Given the description of an element on the screen output the (x, y) to click on. 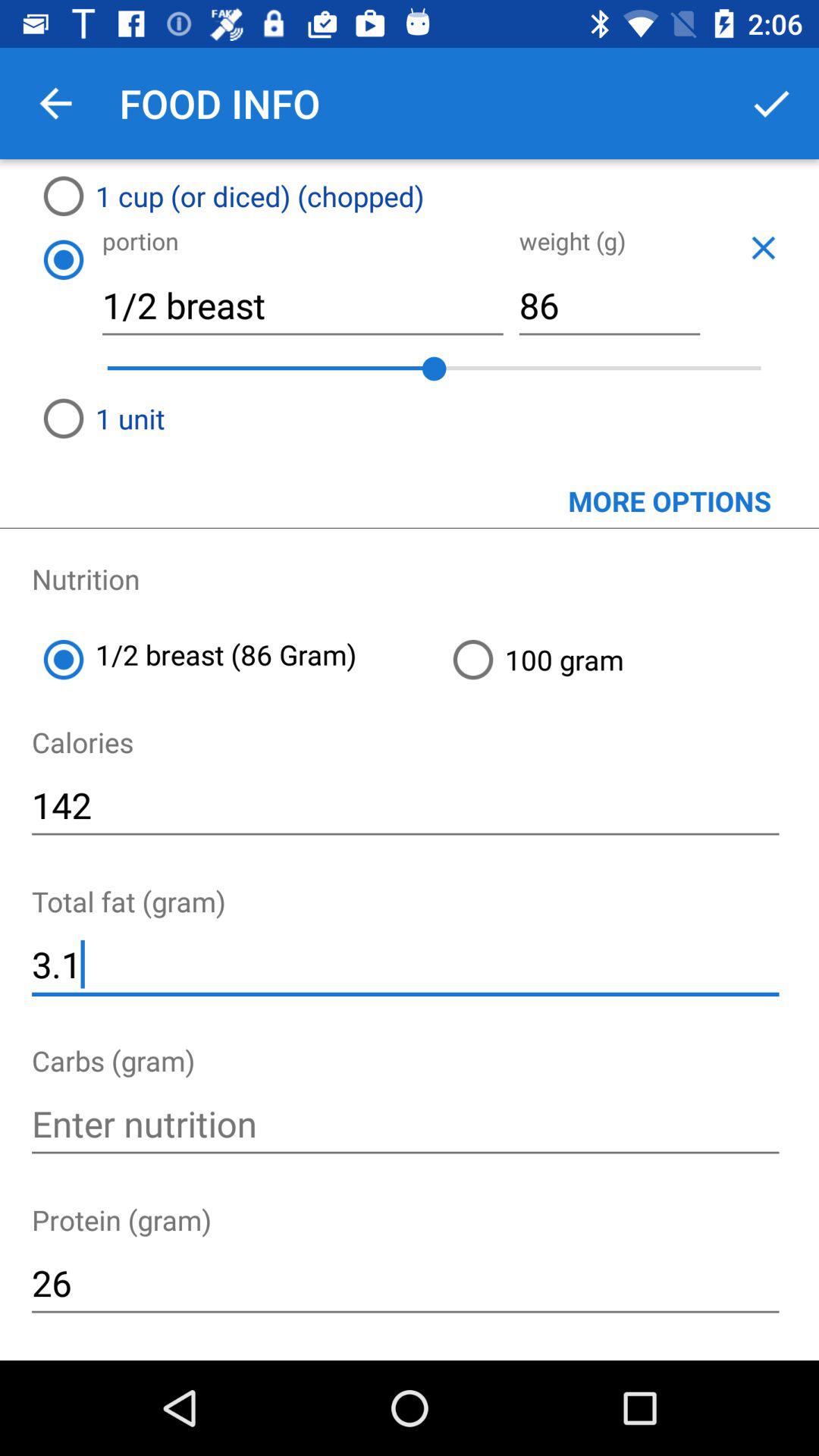
tap app next to food info item (55, 103)
